Given the description of an element on the screen output the (x, y) to click on. 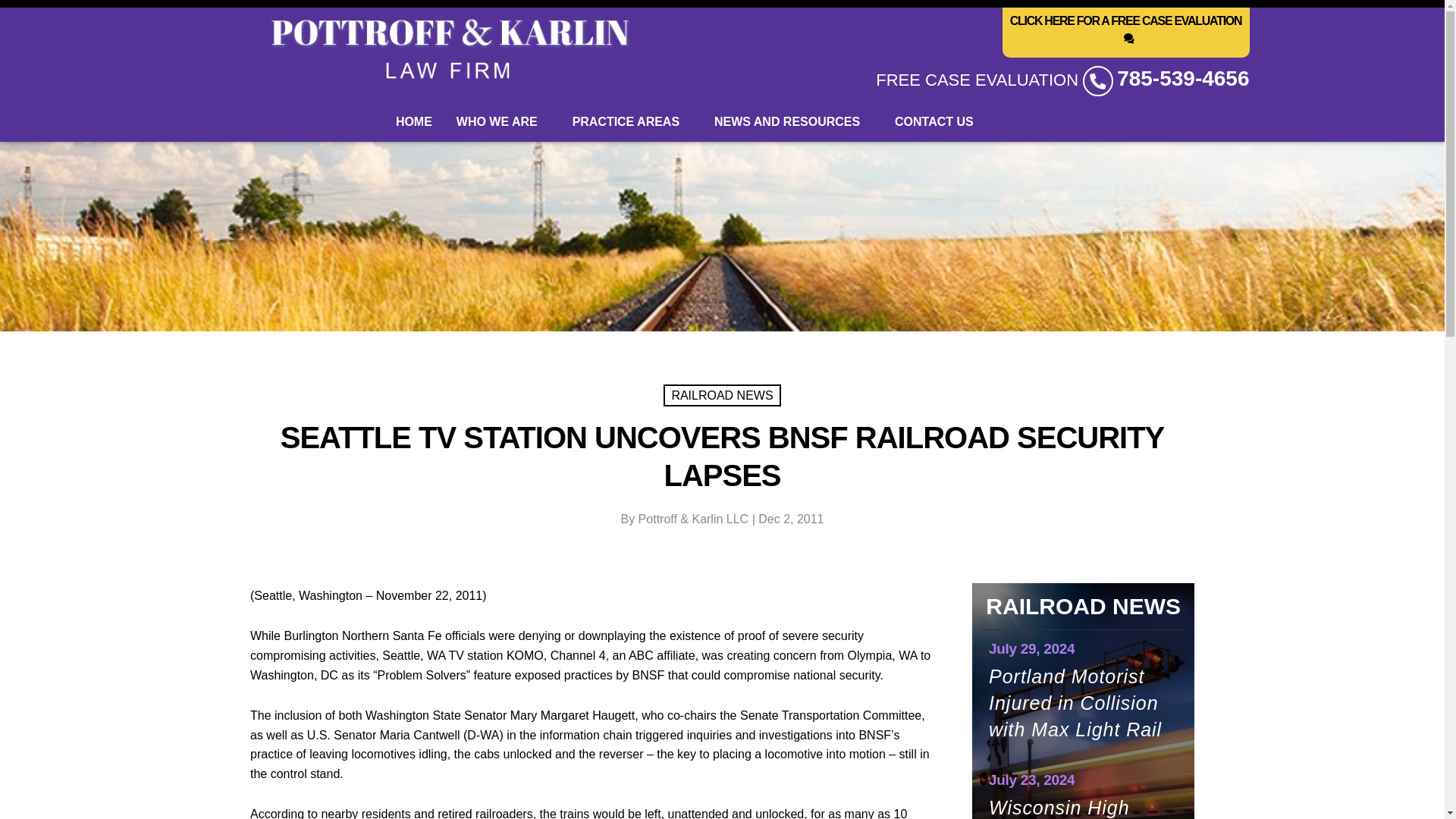
WHO WE ARE (501, 122)
CLICK HERE FOR A FREE CASE EVALUATION (1126, 32)
785-539-4656 (1182, 78)
HOME (414, 122)
PRACTICE AREAS (630, 122)
